Given the description of an element on the screen output the (x, y) to click on. 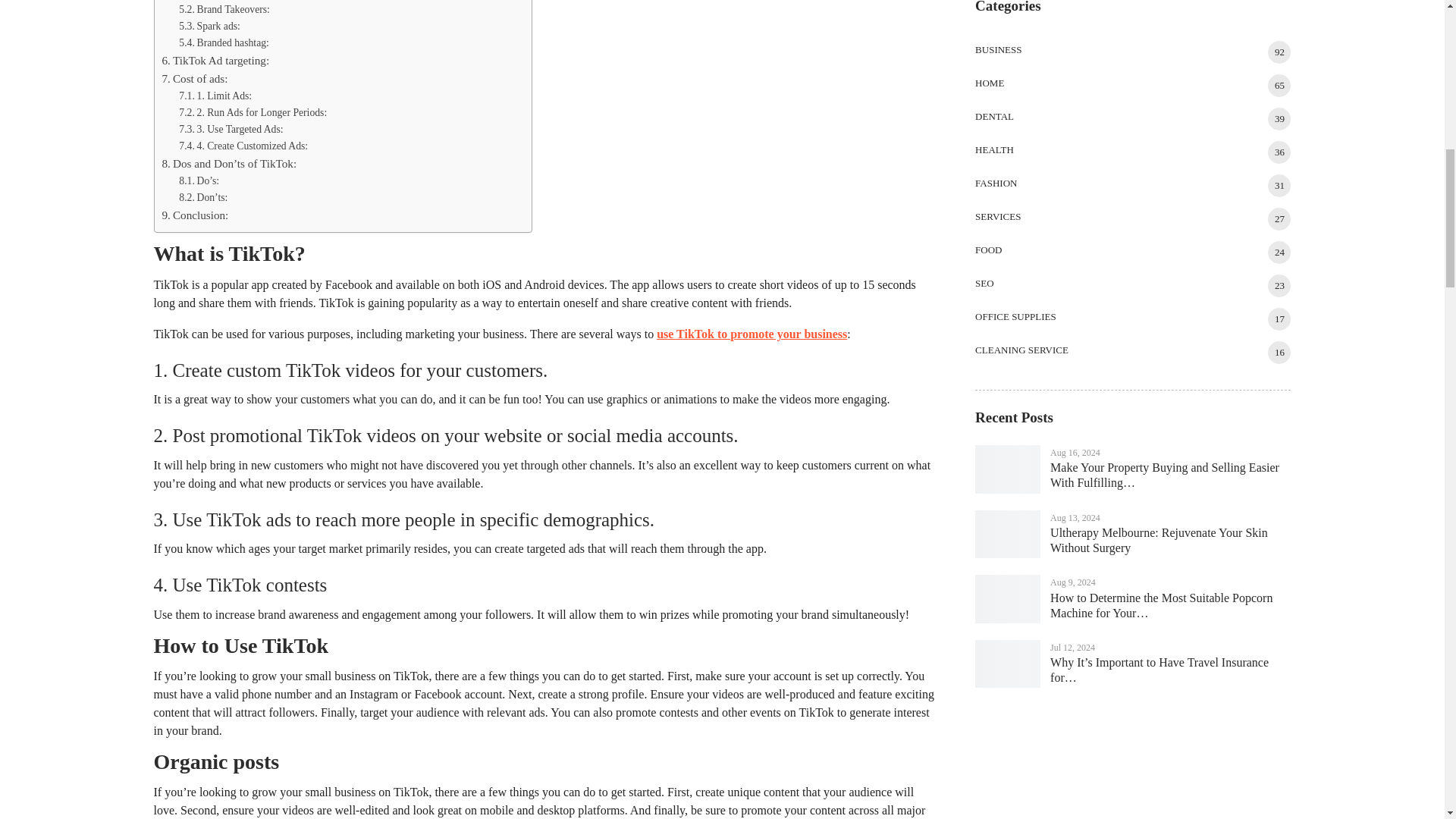
Branded hashtag: (224, 43)
4. Create Customized Ads: (243, 146)
Cost of ads: (194, 78)
1. Limit Ads: (215, 95)
Spark ads: (209, 26)
TikTok Ad targeting: (215, 60)
In-feed ads: (212, 0)
Brand Takeovers: (224, 9)
3. Use Targeted Ads: (230, 129)
2. Run Ads for Longer Periods: (252, 112)
